Given the description of an element on the screen output the (x, y) to click on. 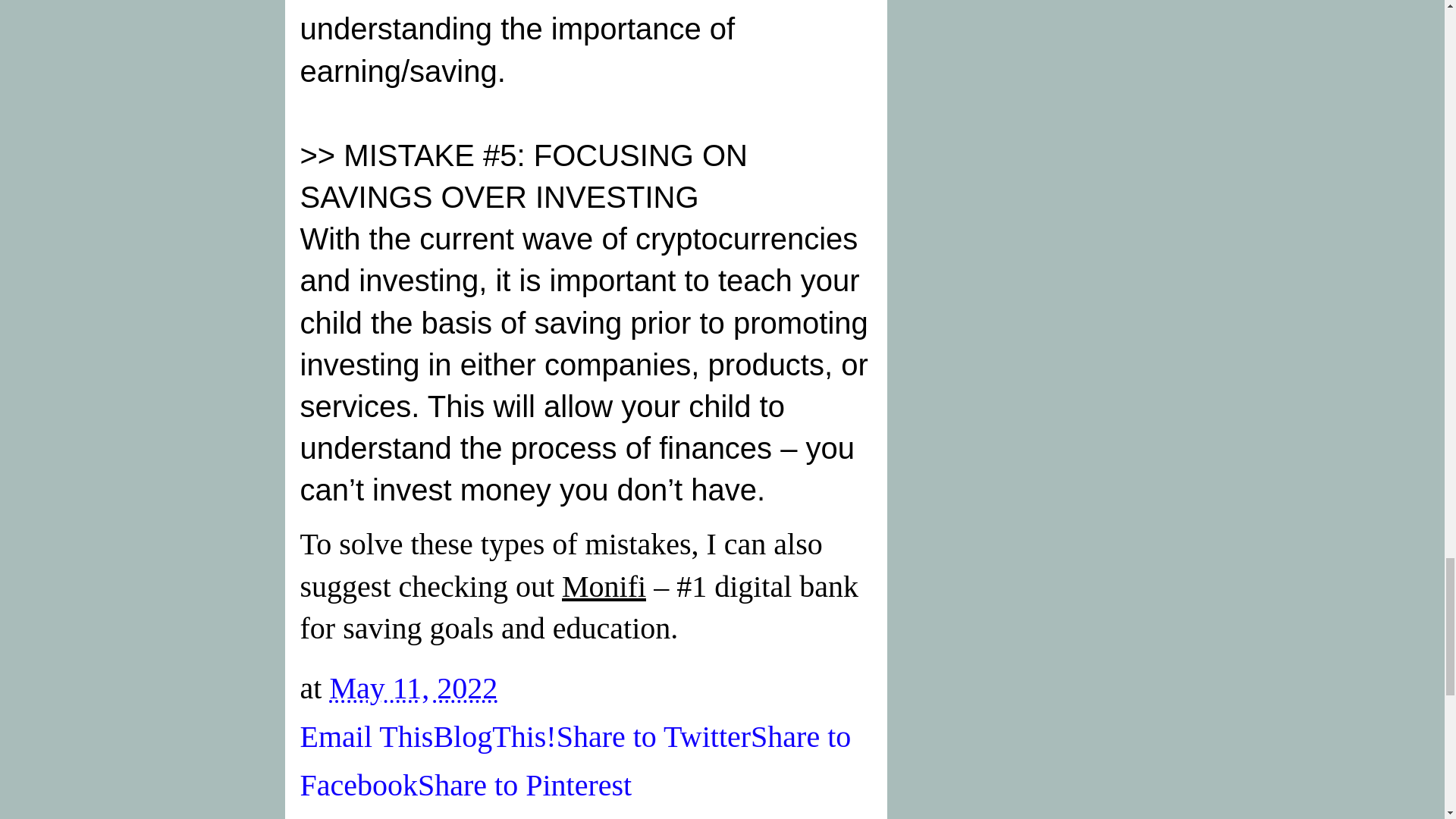
Share to Facebook (575, 760)
Email This (366, 736)
Email This (366, 736)
Monifi (604, 586)
May 11, 2022 (413, 687)
Share to Twitter (653, 736)
BlogThis! (494, 736)
Share to Twitter (653, 736)
Share to Pinterest (524, 785)
Share to Pinterest (524, 785)
